Given the description of an element on the screen output the (x, y) to click on. 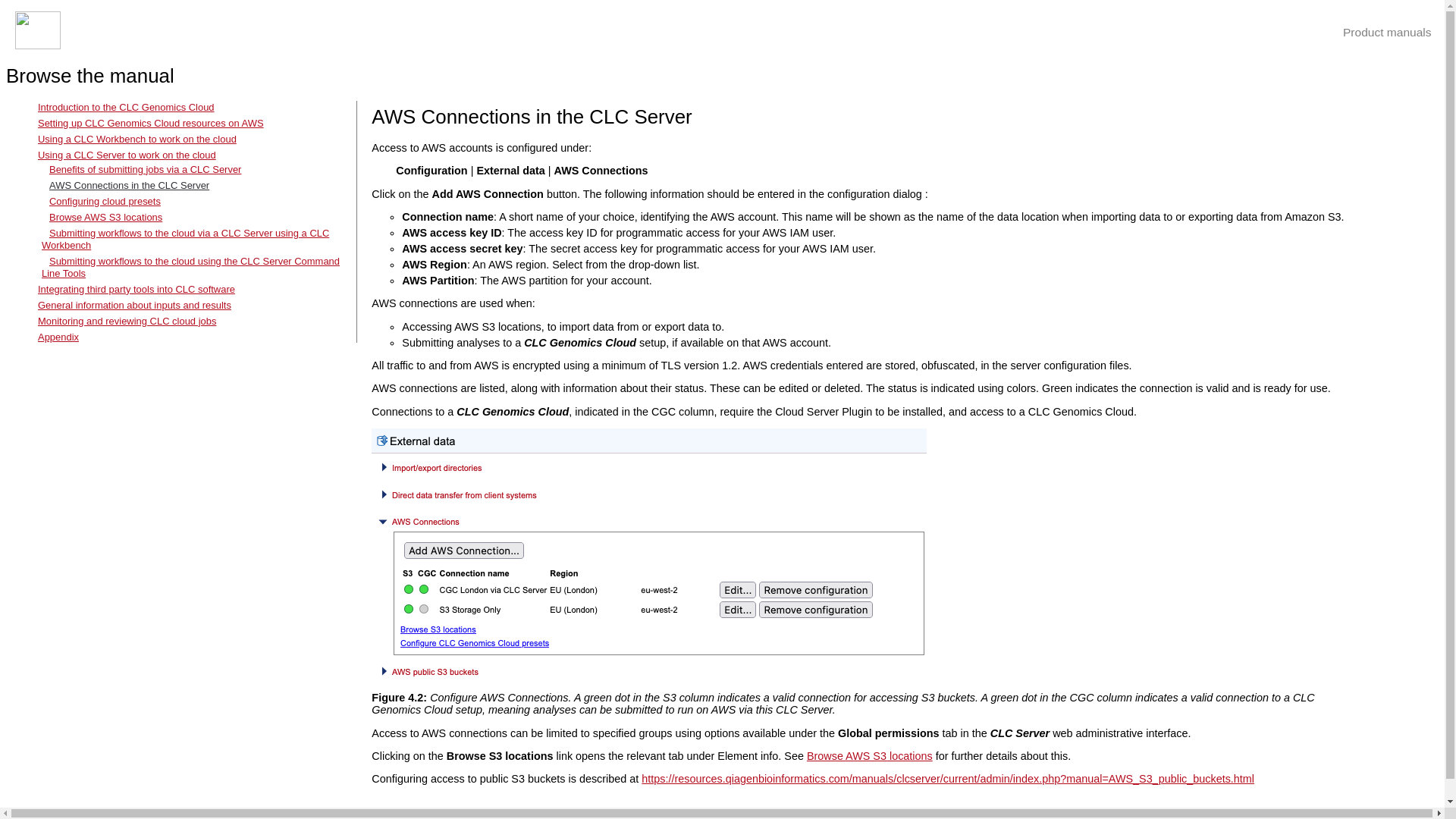
Setting up CLC Genomics Cloud resources on AWS (150, 122)
Benefits of submitting jobs via a CLC Server (145, 169)
AWS Connections in the CLC Server (129, 184)
Introduction to the CLC Genomics Cloud (125, 107)
General information about inputs and results (134, 305)
Product manuals (1386, 31)
Using a CLC Workbench to work on the cloud (136, 138)
Configuring cloud presets (104, 201)
Browse AWS S3 locations (105, 216)
Using a CLC Server to work on the cloud (126, 154)
